Given the description of an element on the screen output the (x, y) to click on. 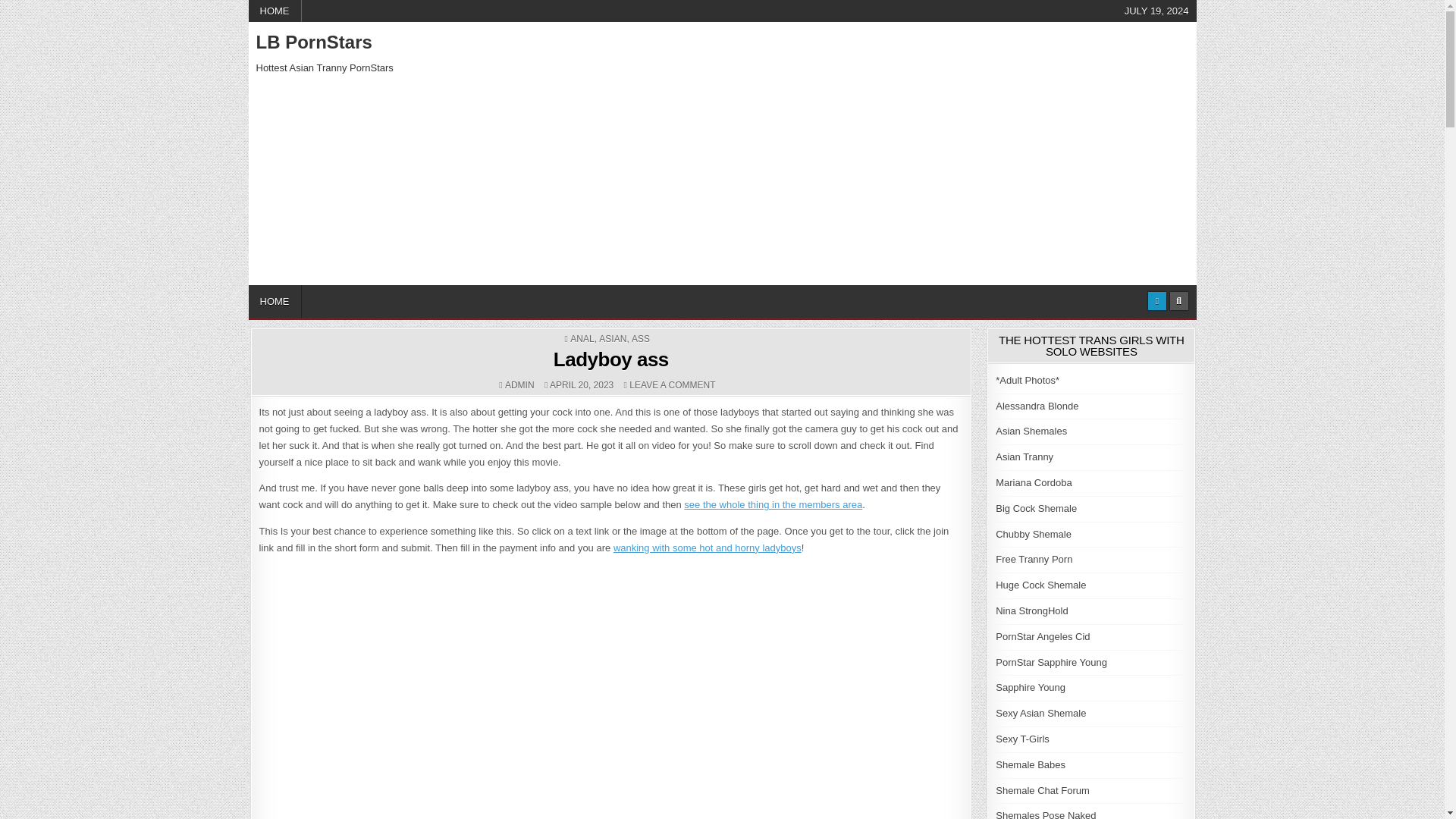
ASIAN (612, 338)
Search (1178, 300)
Ladyboy ass (610, 359)
LB PornStars (314, 41)
Sapphire Young (1030, 686)
HOME (274, 11)
Mariana Cordoba (1033, 482)
Huge Cock Shemale (1040, 584)
PornStar Angeles Cid (1042, 636)
Asian Shemales (671, 384)
ANAL (1031, 430)
Alessandra Blonde (582, 338)
ASS (1036, 405)
PornStar Sapphire Young (640, 338)
